Given the description of an element on the screen output the (x, y) to click on. 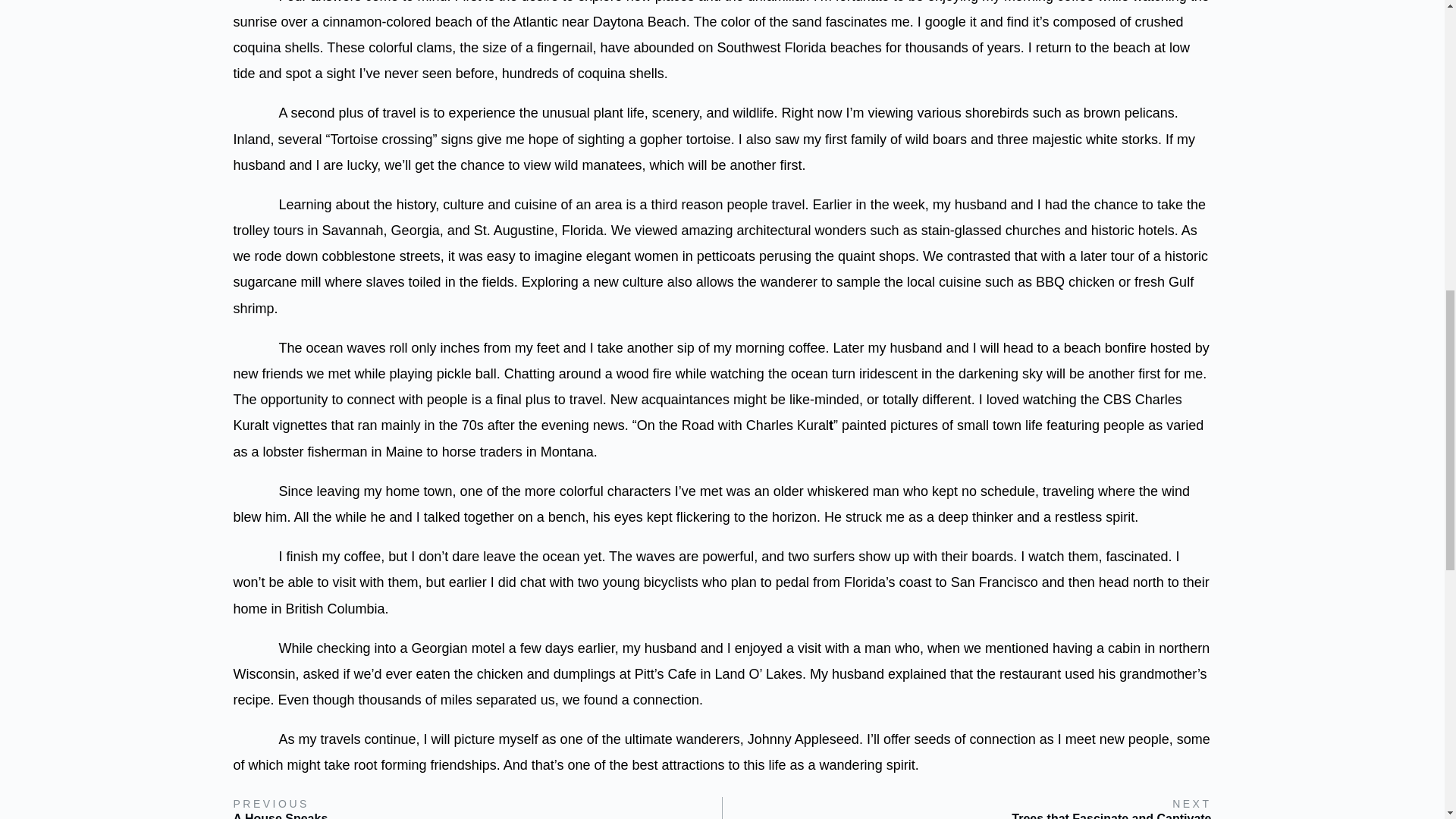
A House Speaks (280, 814)
Trees that Fascinate and Captivate (1111, 814)
